Given the description of an element on the screen output the (x, y) to click on. 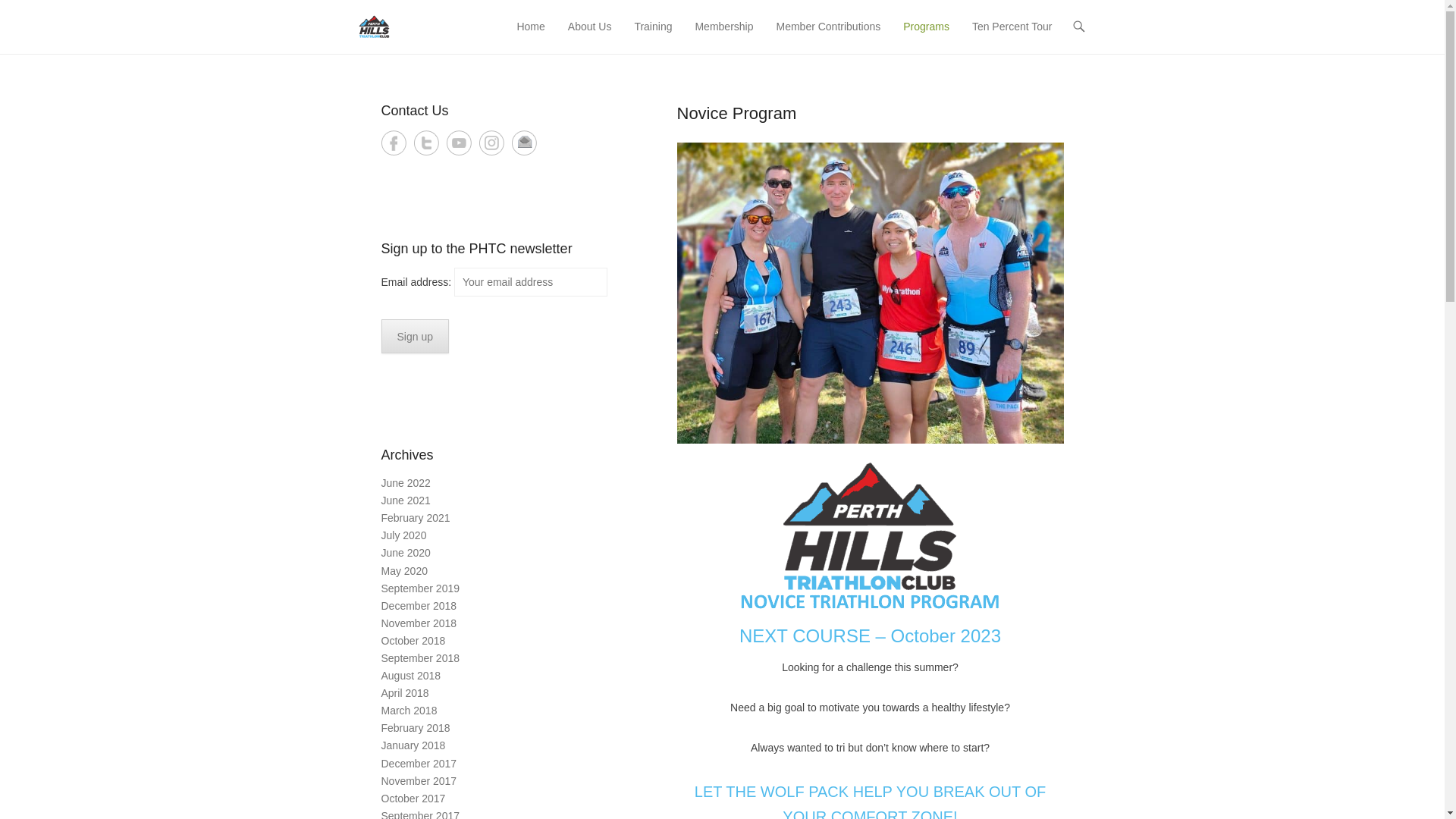
Skip to content Element type: text (543, 27)
February 2021 Element type: text (414, 517)
Member Contributions Element type: text (828, 35)
April 2018 Element type: text (404, 693)
November 2018 Element type: text (418, 623)
Home Element type: text (530, 35)
Training Element type: text (652, 35)
June 2022 Element type: text (404, 482)
September 2019 Element type: text (419, 588)
December 2017 Element type: text (418, 763)
Membership Element type: text (723, 35)
March 2018 Element type: text (408, 710)
October 2018 Element type: text (412, 640)
Email Element type: text (523, 142)
Facebook Element type: text (392, 142)
June 2021 Element type: text (404, 500)
Programs Element type: text (926, 35)
February 2018 Element type: text (414, 727)
May 2020 Element type: text (403, 570)
Sign up Element type: text (414, 336)
January 2018 Element type: text (412, 745)
December 2018 Element type: text (418, 605)
August 2018 Element type: text (410, 675)
Twitter Element type: text (426, 142)
About Us Element type: text (589, 35)
YouTube Element type: text (457, 142)
October 2017 Element type: text (412, 798)
July 2020 Element type: text (403, 535)
Ten Percent Tour Element type: text (1012, 35)
November 2017 Element type: text (418, 781)
September 2018 Element type: text (419, 658)
Perth Hills Triathlon Club Element type: text (498, 20)
June 2020 Element type: text (404, 552)
Instagram Element type: text (491, 142)
